Given the description of an element on the screen output the (x, y) to click on. 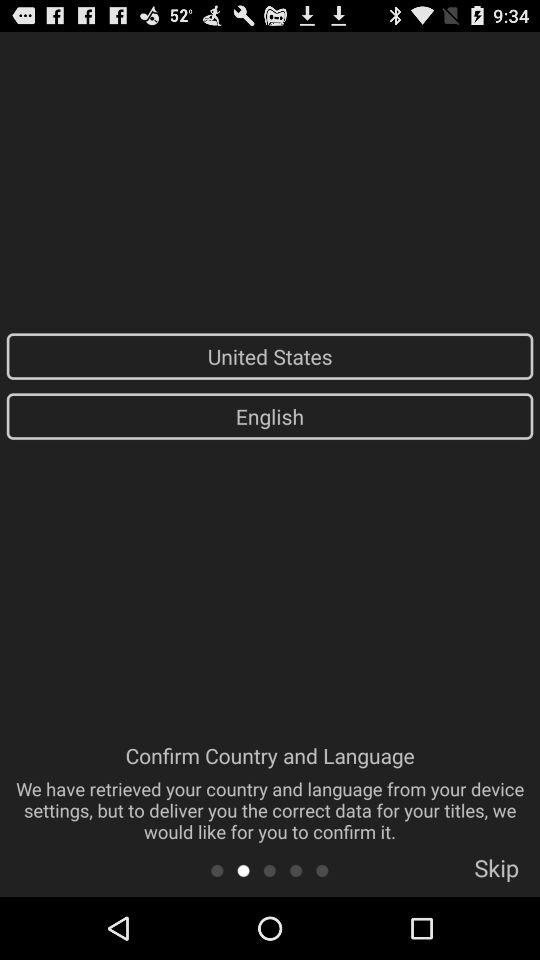
swipe to the united states icon (269, 356)
